Given the description of an element on the screen output the (x, y) to click on. 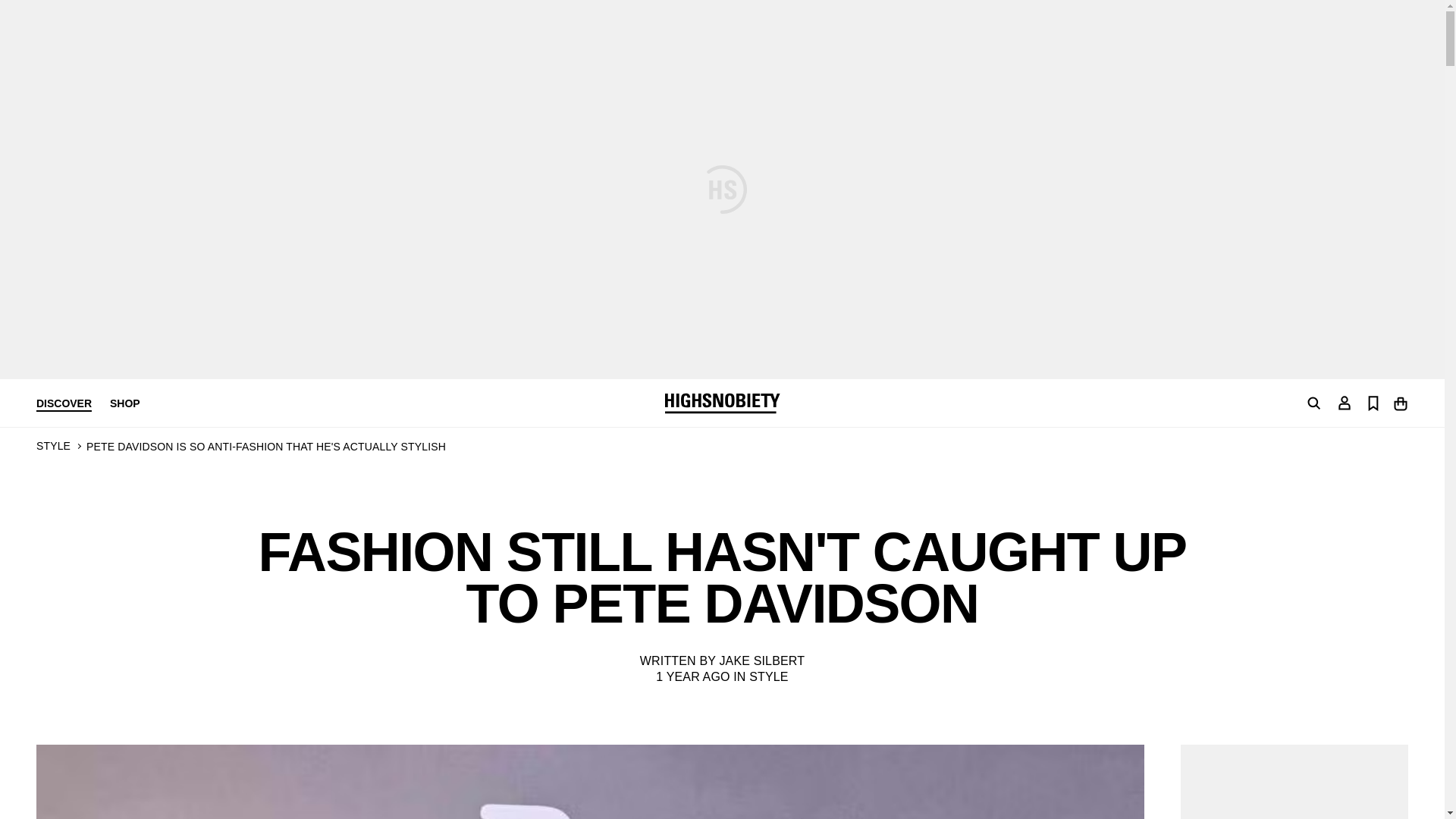
Go To Shopping Cart (1400, 402)
Highsnobiety (720, 403)
Go To Saved (1372, 402)
Go To Account (1344, 402)
Go To Search (1314, 403)
